Given the description of an element on the screen output the (x, y) to click on. 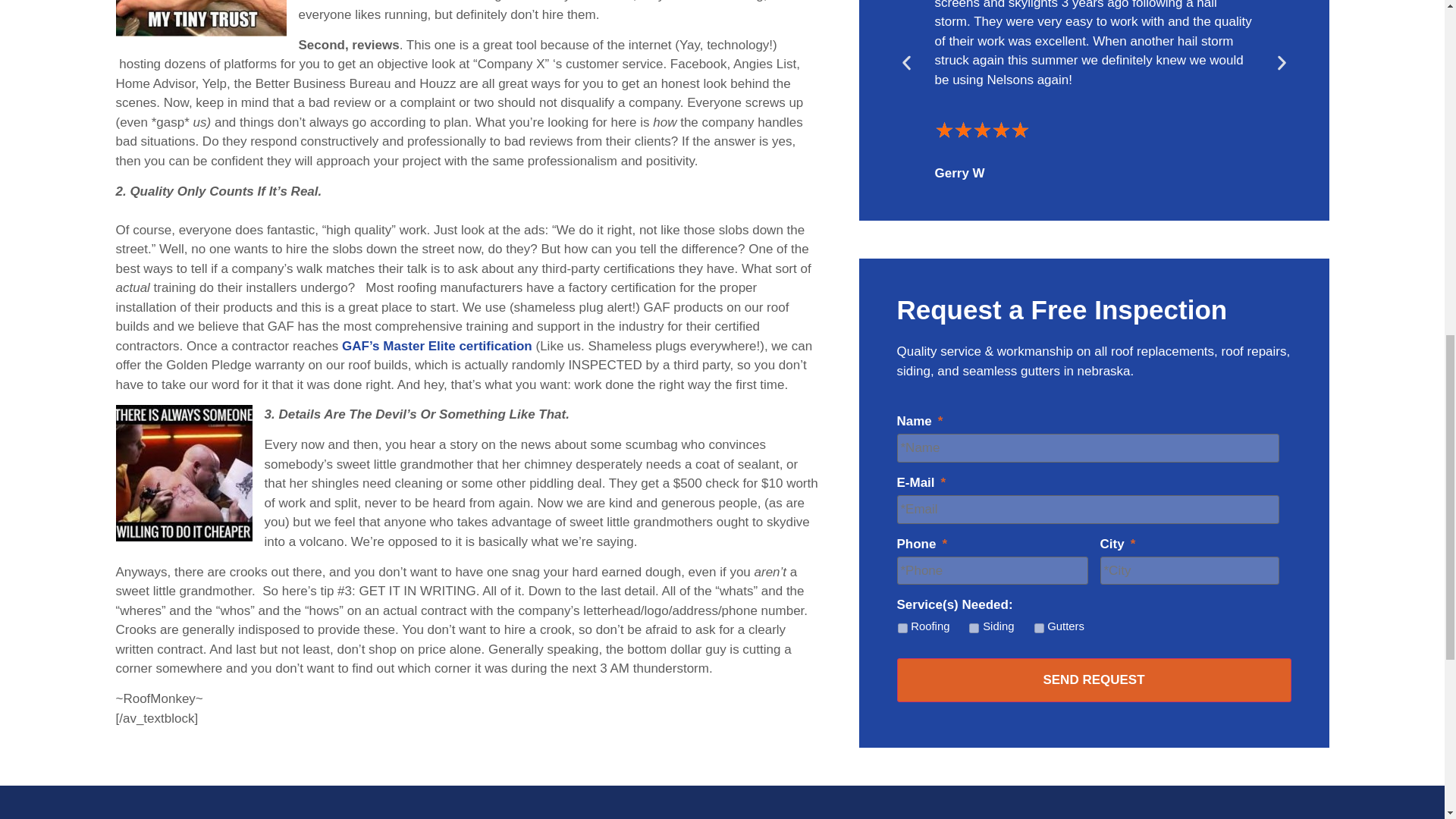
Siding (973, 628)
Roofing (902, 628)
Gutters (1038, 628)
Send Request (1093, 679)
